Given the description of an element on the screen output the (x, y) to click on. 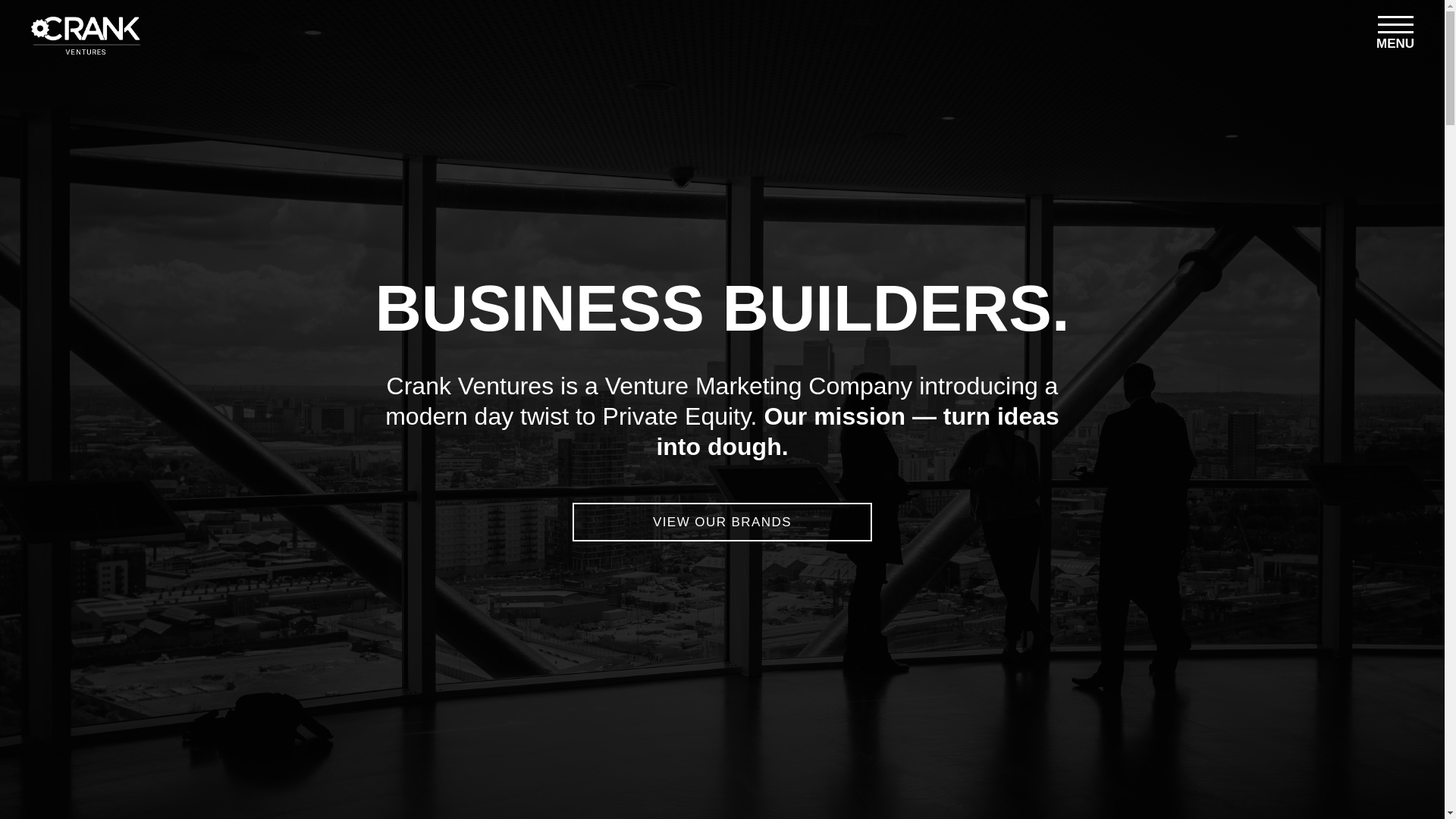
VIEW OUR BRANDS (722, 521)
MENU (1394, 35)
